Given the description of an element on the screen output the (x, y) to click on. 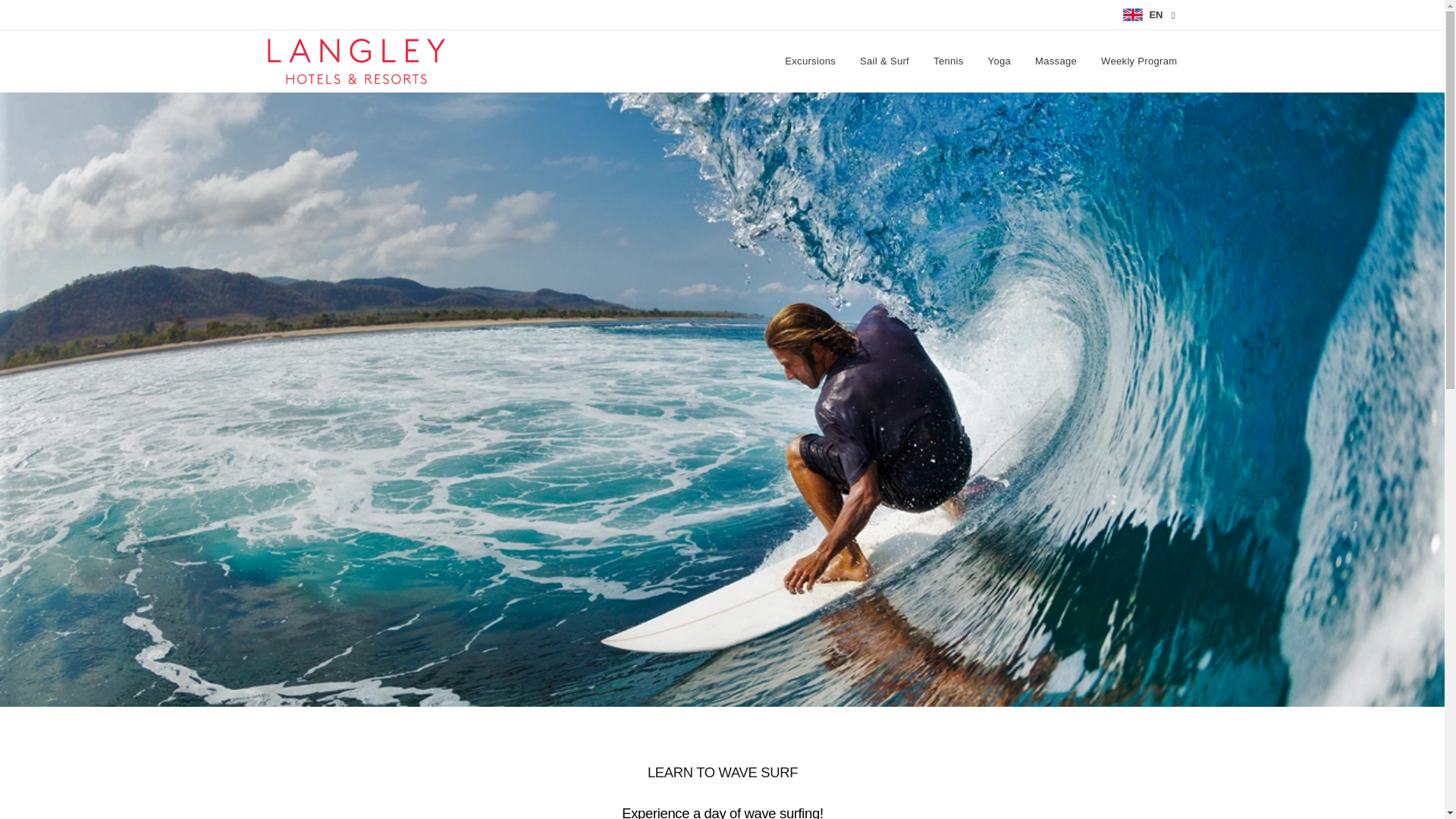
Massage (1056, 61)
Tennis (948, 61)
Weekly Program (1132, 61)
Yoga (999, 61)
Excursions (813, 61)
